Given the description of an element on the screen output the (x, y) to click on. 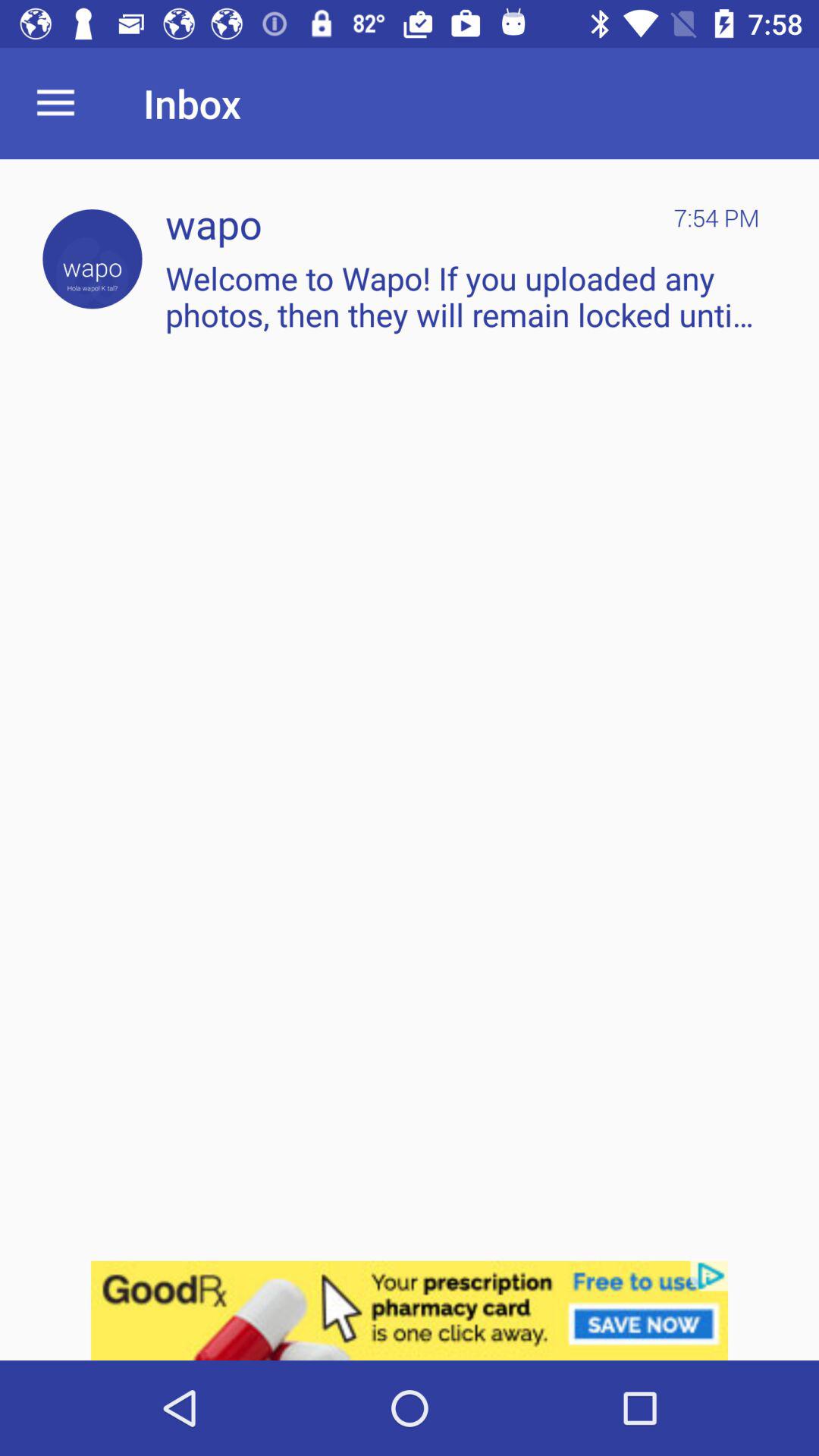
go to on button (92, 258)
